Given the description of an element on the screen output the (x, y) to click on. 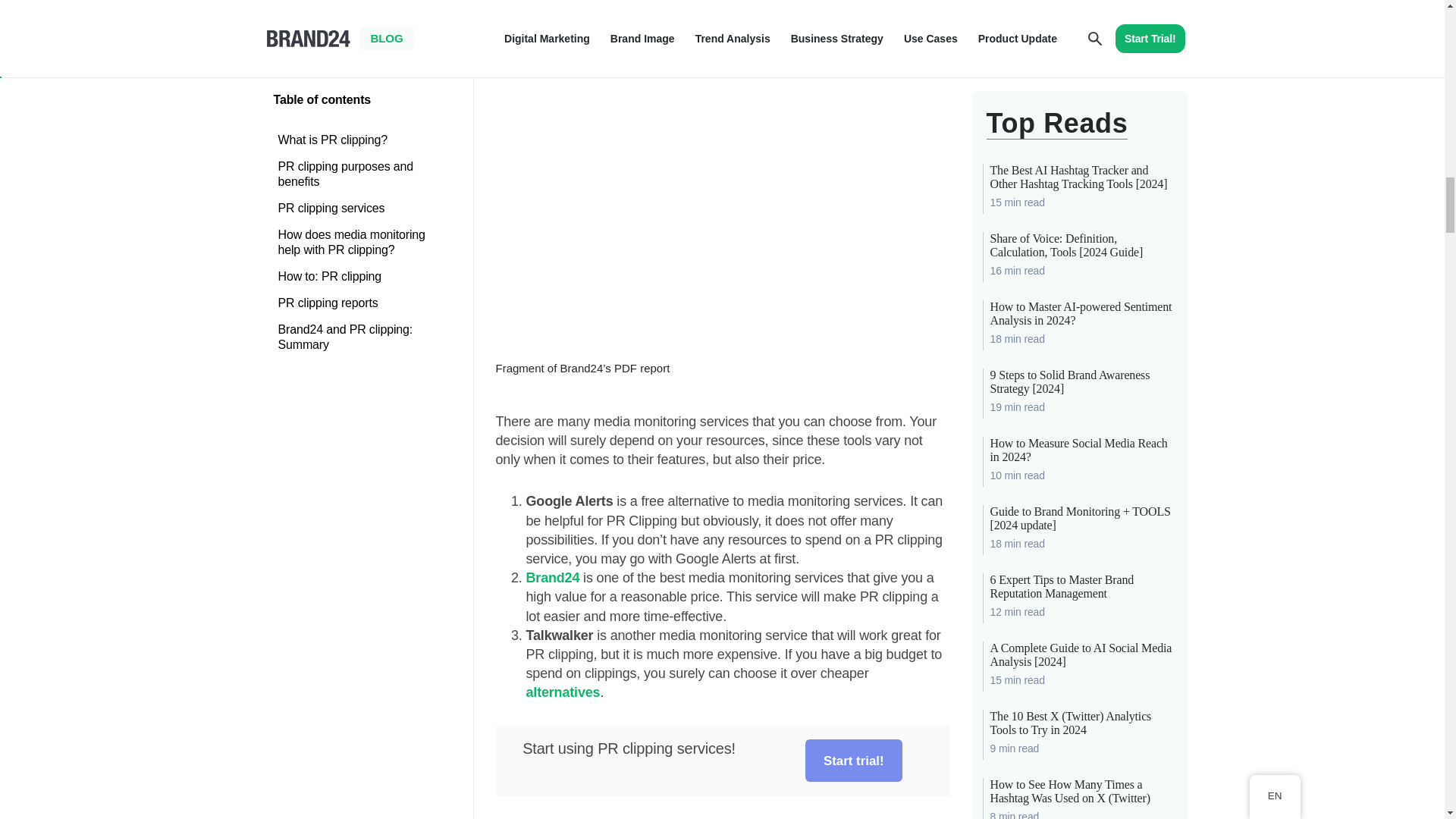
Brand24 (552, 577)
